Given the description of an element on the screen output the (x, y) to click on. 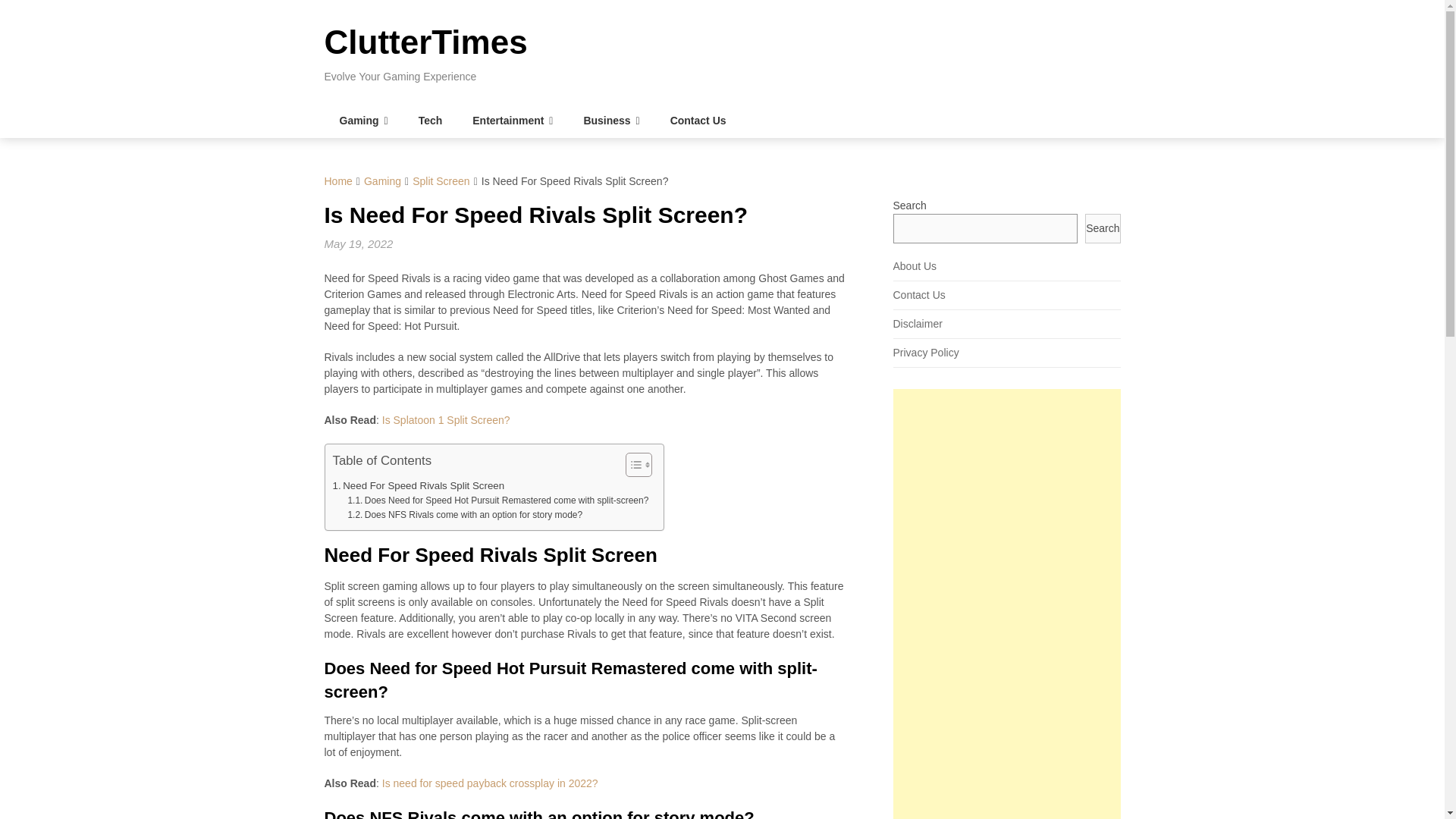
Tech (430, 121)
Contact Us (698, 121)
Is need for speed payback crossplay in 2022? (489, 783)
Search (1101, 228)
Split Screen (440, 181)
Does NFS Rivals come with an option for story mode? (464, 514)
Need For Speed Rivals Split Screen (417, 485)
Entertainment (512, 121)
Home (338, 181)
Contact Us (918, 295)
ClutterTimes (425, 41)
Gaming (363, 121)
Disclaimer (917, 323)
